Given the description of an element on the screen output the (x, y) to click on. 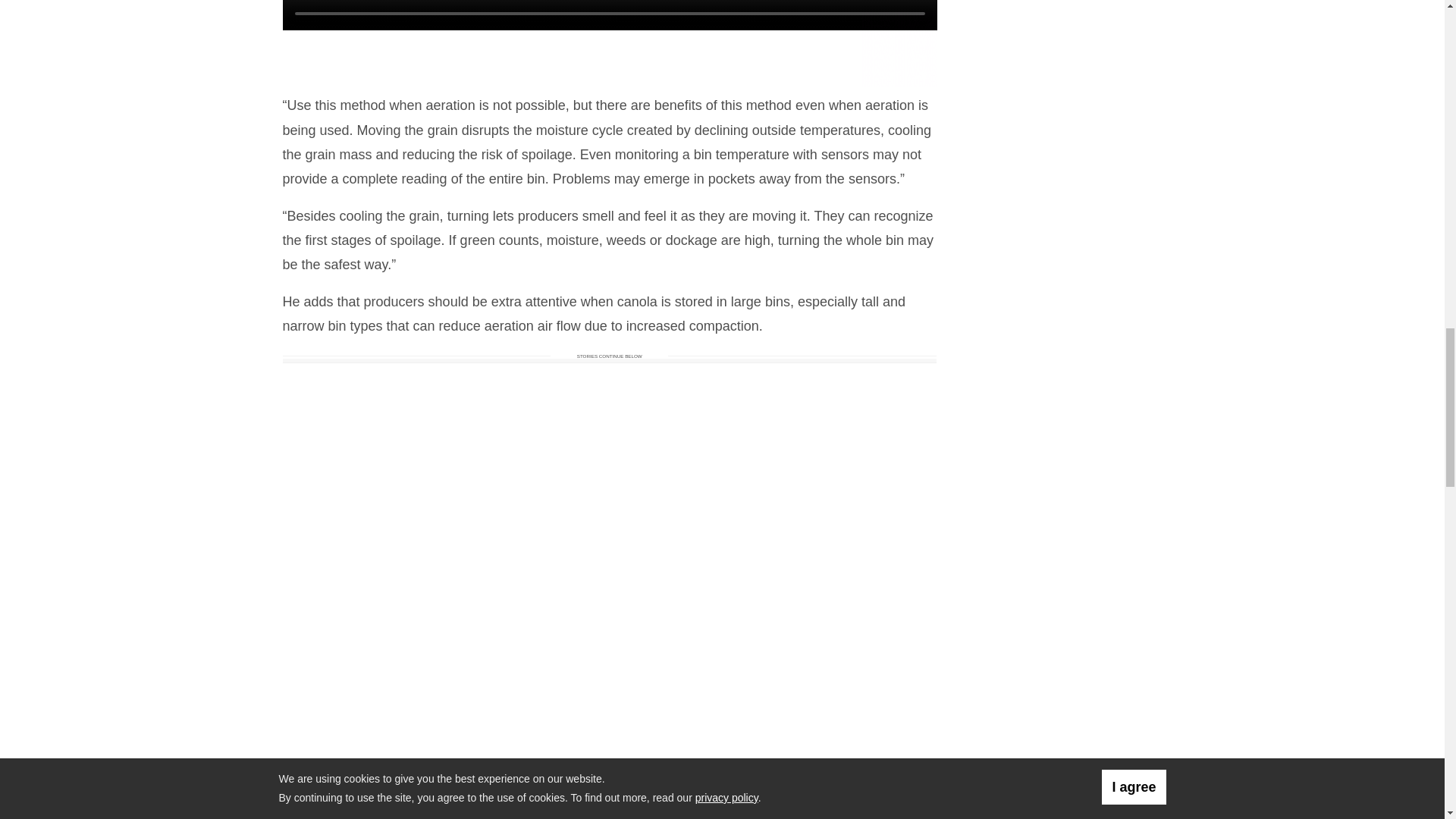
3rd party ad content (609, 43)
